Given the description of an element on the screen output the (x, y) to click on. 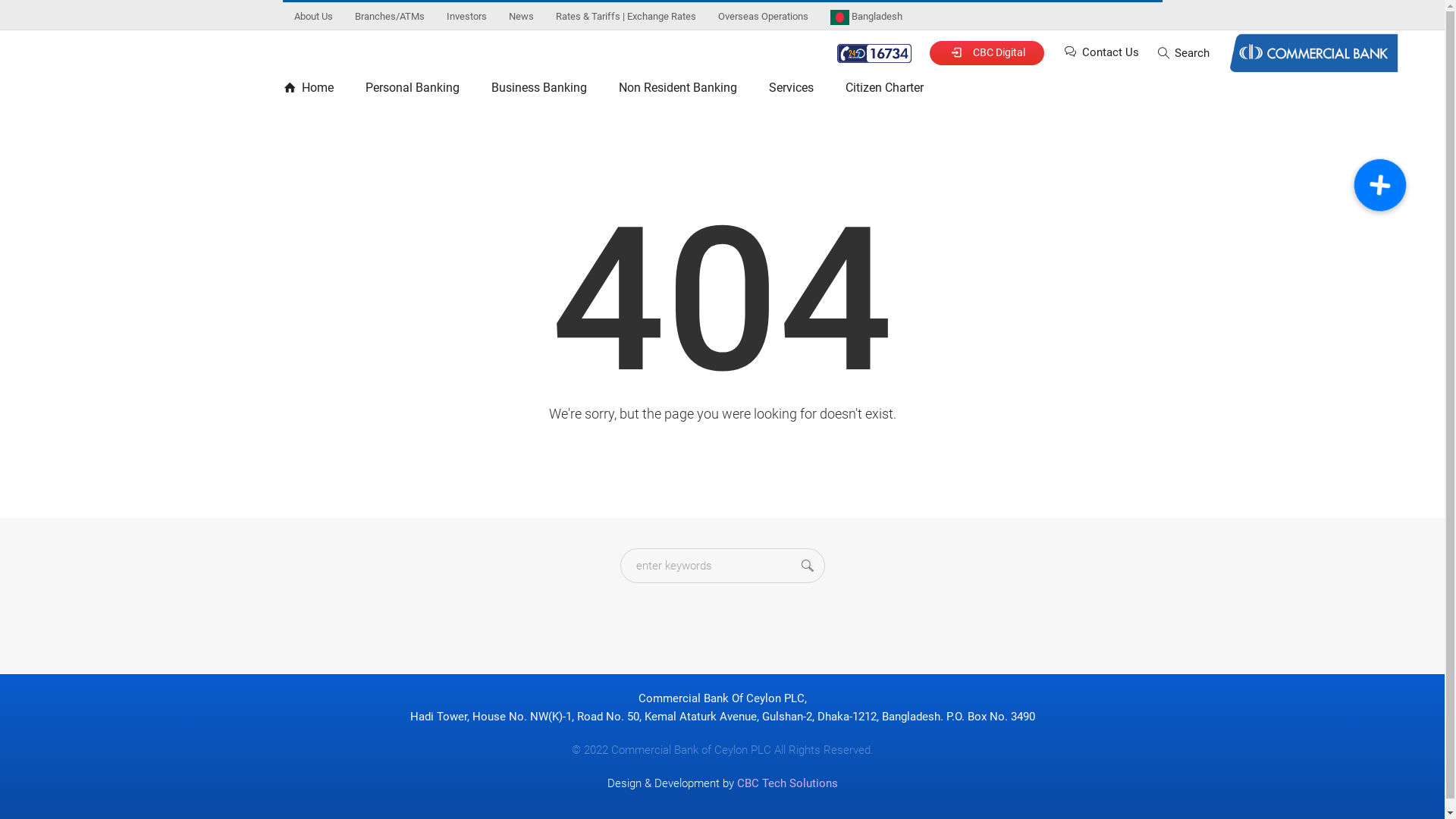
Non Resident Banking Element type: text (677, 90)
News Element type: text (520, 16)
Branches/ATMs Element type: text (389, 16)
Contact Us Element type: text (1099, 52)
Investors Element type: text (465, 16)
Services Element type: text (790, 90)
Business Banking Element type: text (538, 90)
Personal Banking Element type: text (411, 90)
CBC Tech Solutions Element type: text (787, 783)
  CBC Digital Element type: text (986, 52)
Citizen Charter Element type: text (884, 90)
Home Element type: text (315, 90)
 Bangladesh Element type: text (865, 16)
Rates & Tariffs | Exchange Rates Element type: text (625, 16)
Overseas Operations Element type: text (762, 16)
About Us Element type: text (313, 16)
Search Element type: text (1183, 52)
